Given the description of an element on the screen output the (x, y) to click on. 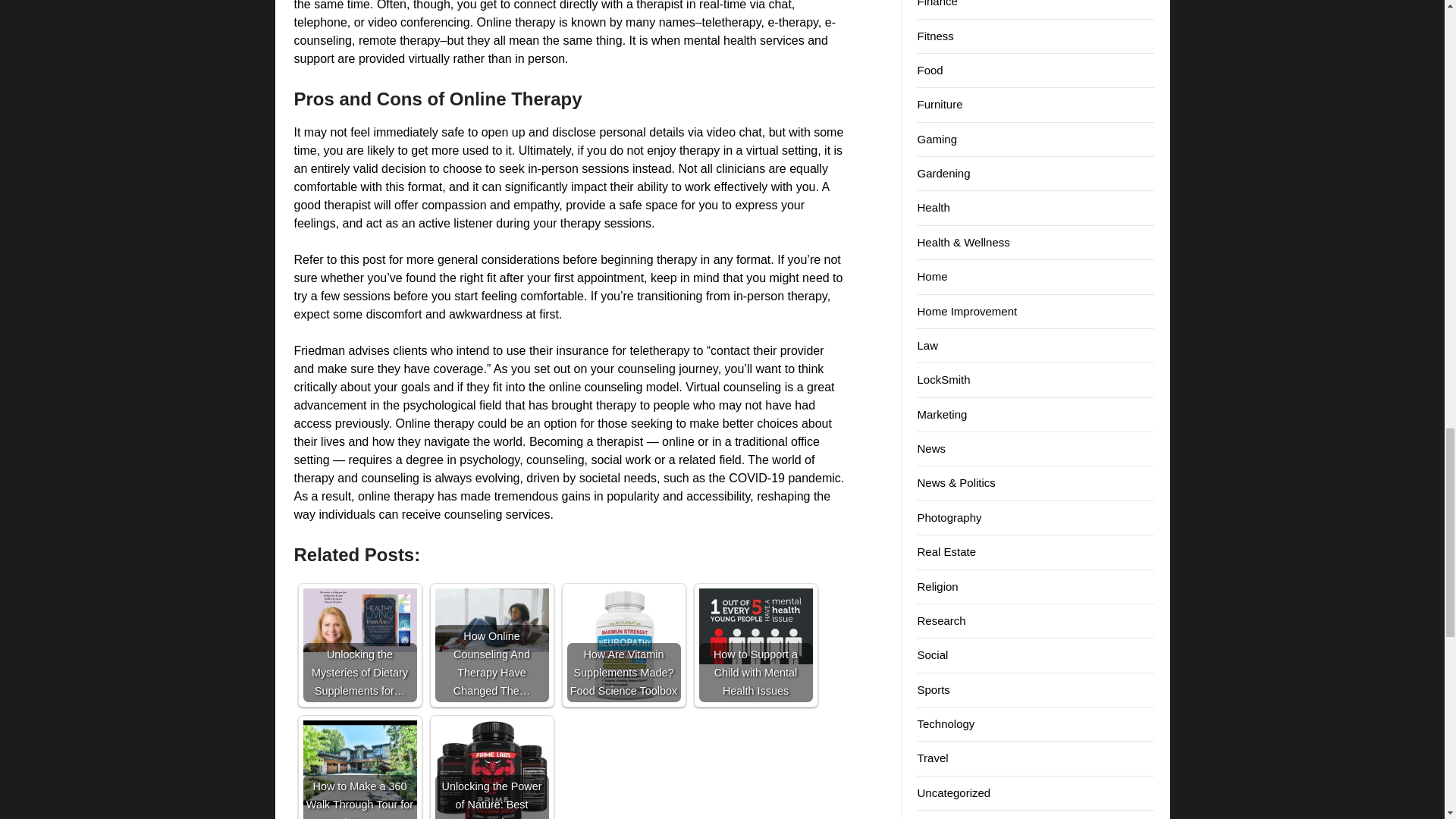
How to Support a Child with Mental Health Issues (755, 626)
How Are Vitamin Supplements Made? Food Science Toolbox (624, 644)
How to Support a Child with Mental Health Issues (755, 644)
